Given the description of an element on the screen output the (x, y) to click on. 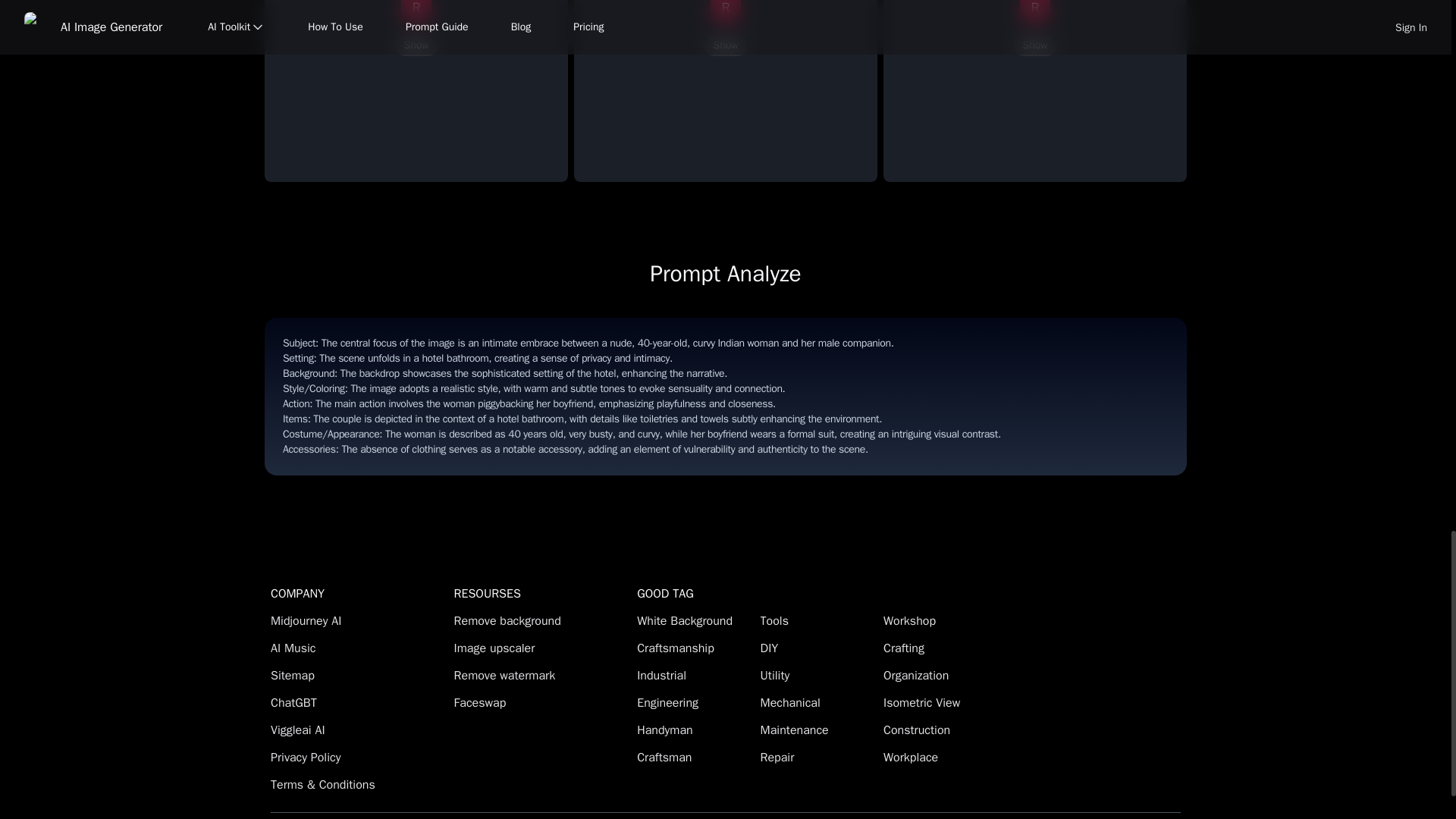
Show (416, 45)
Utility (817, 675)
Remove background (542, 620)
White Background (694, 620)
Industrial (694, 675)
Workshop (940, 620)
Show (724, 45)
Craftsmanship (694, 648)
Tools (817, 620)
ChatGBT (359, 702)
DIY (817, 648)
Privacy Policy (359, 757)
AI Music (359, 648)
Sitemap (359, 675)
Remove watermark (542, 675)
